Given the description of an element on the screen output the (x, y) to click on. 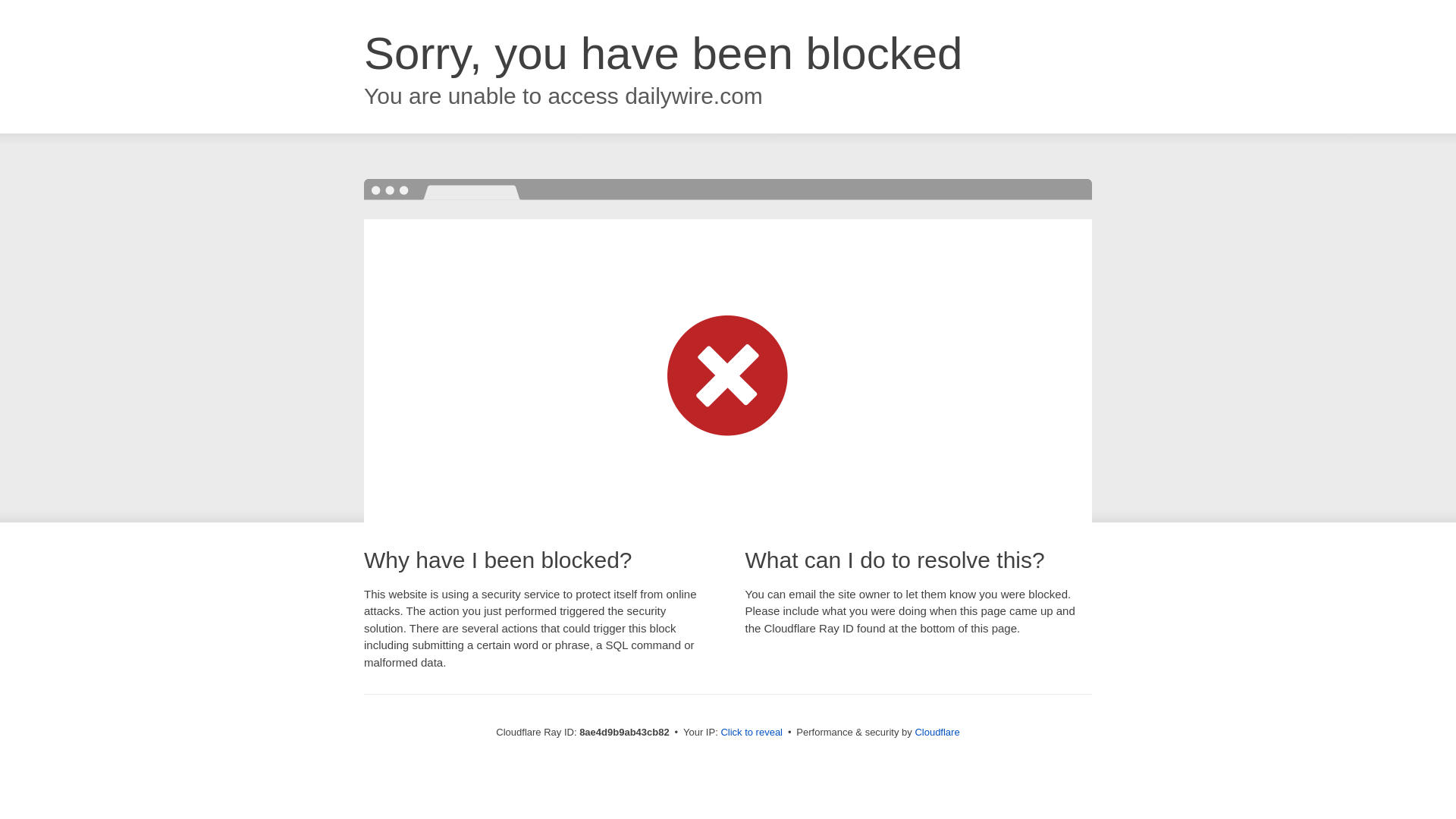
Click to reveal (751, 732)
Cloudflare (936, 731)
